Given the description of an element on the screen output the (x, y) to click on. 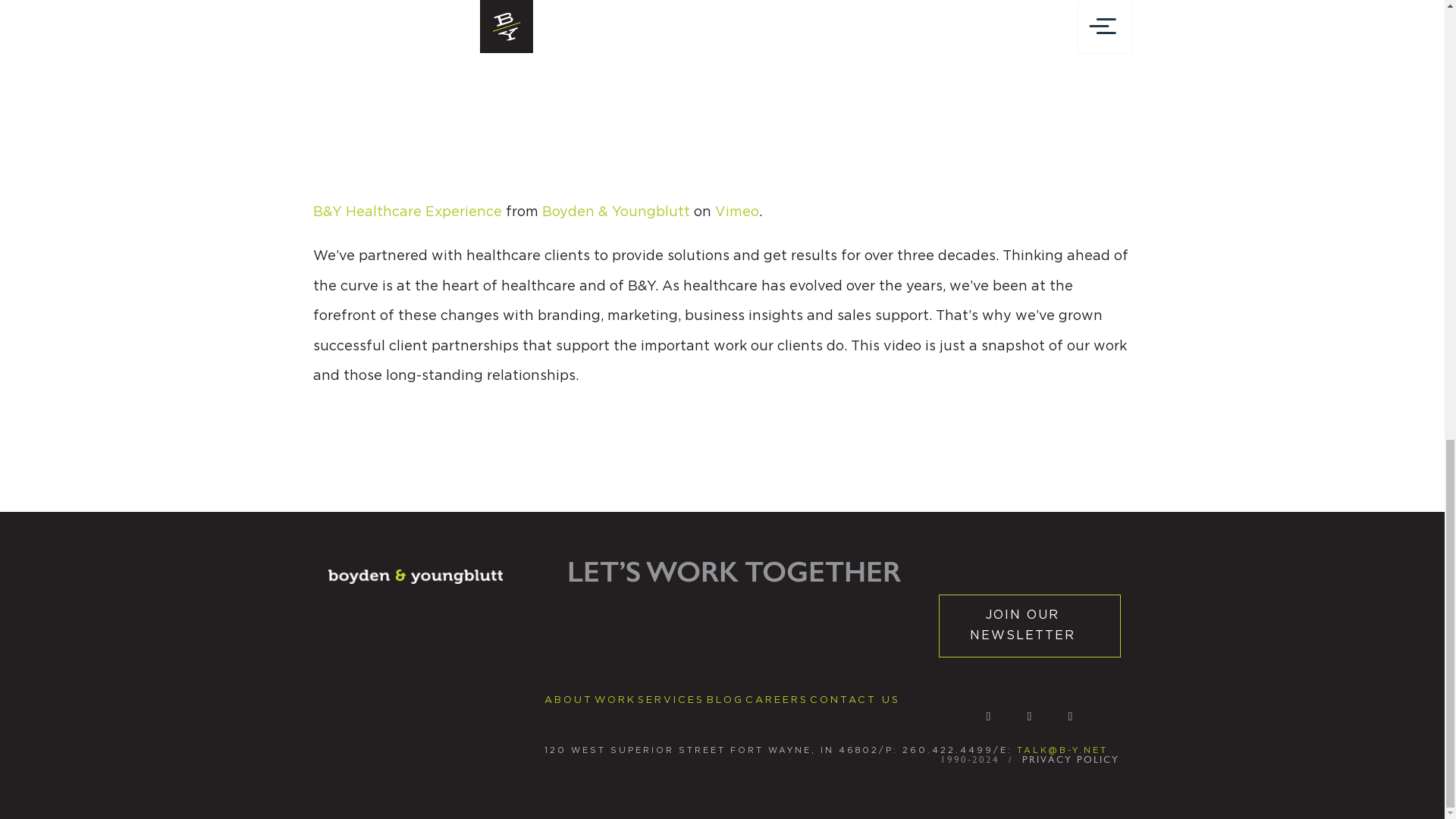
Follow on Facebook (1070, 716)
Vimeo (736, 212)
CAREERS (776, 700)
JOIN OUR NEWSLETTER (1030, 625)
CONTACT US (854, 700)
BLOG (725, 700)
WORK (615, 700)
PRIVACY POLICY (1070, 758)
Follow on LinkedIn (988, 716)
ABOUT (568, 700)
SERVICES (670, 700)
Follow on Instagram (1029, 716)
